Given the description of an element on the screen output the (x, y) to click on. 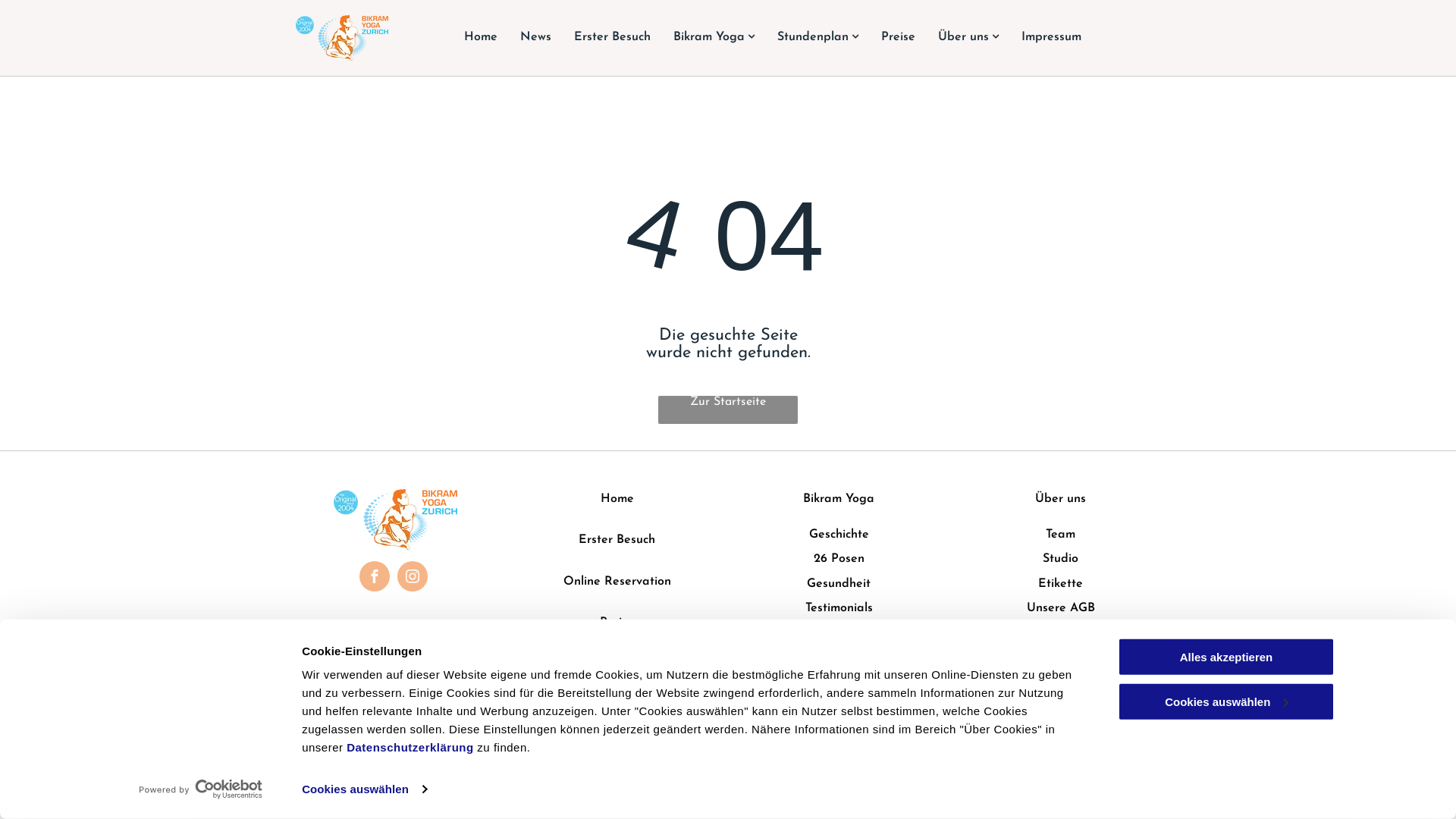
Stundenplan Element type: text (817, 37)
Challenge Element type: text (838, 632)
Erster Besuch Element type: text (612, 37)
Bikram Yoga Element type: text (838, 498)
Online Reservation Element type: text (617, 581)
Alles akzeptieren Element type: text (1225, 656)
Etikette Element type: text (1060, 583)
Geschichte Element type: text (839, 534)
Impressum Element type: text (1051, 37)
Preise Element type: text (897, 37)
Gesundheit Element type: text (838, 583)
Home Element type: text (616, 498)
Unsere AGB Element type: text (1060, 608)
Home Element type: text (480, 37)
Studio Element type: text (1060, 558)
26 Posen Element type: text (838, 558)
Preise Element type: text (616, 622)
Team Element type: text (1060, 534)
Impressum Element type: text (1060, 652)
Unsere Partner Element type: text (1060, 632)
Testimonials Element type: text (838, 608)
Zur Startseite Element type: text (727, 409)
Erster Besuch Element type: text (616, 539)
Bikram Netflix Element type: text (838, 656)
Bikram Yoga Element type: text (713, 37)
News Element type: text (535, 37)
